Given the description of an element on the screen output the (x, y) to click on. 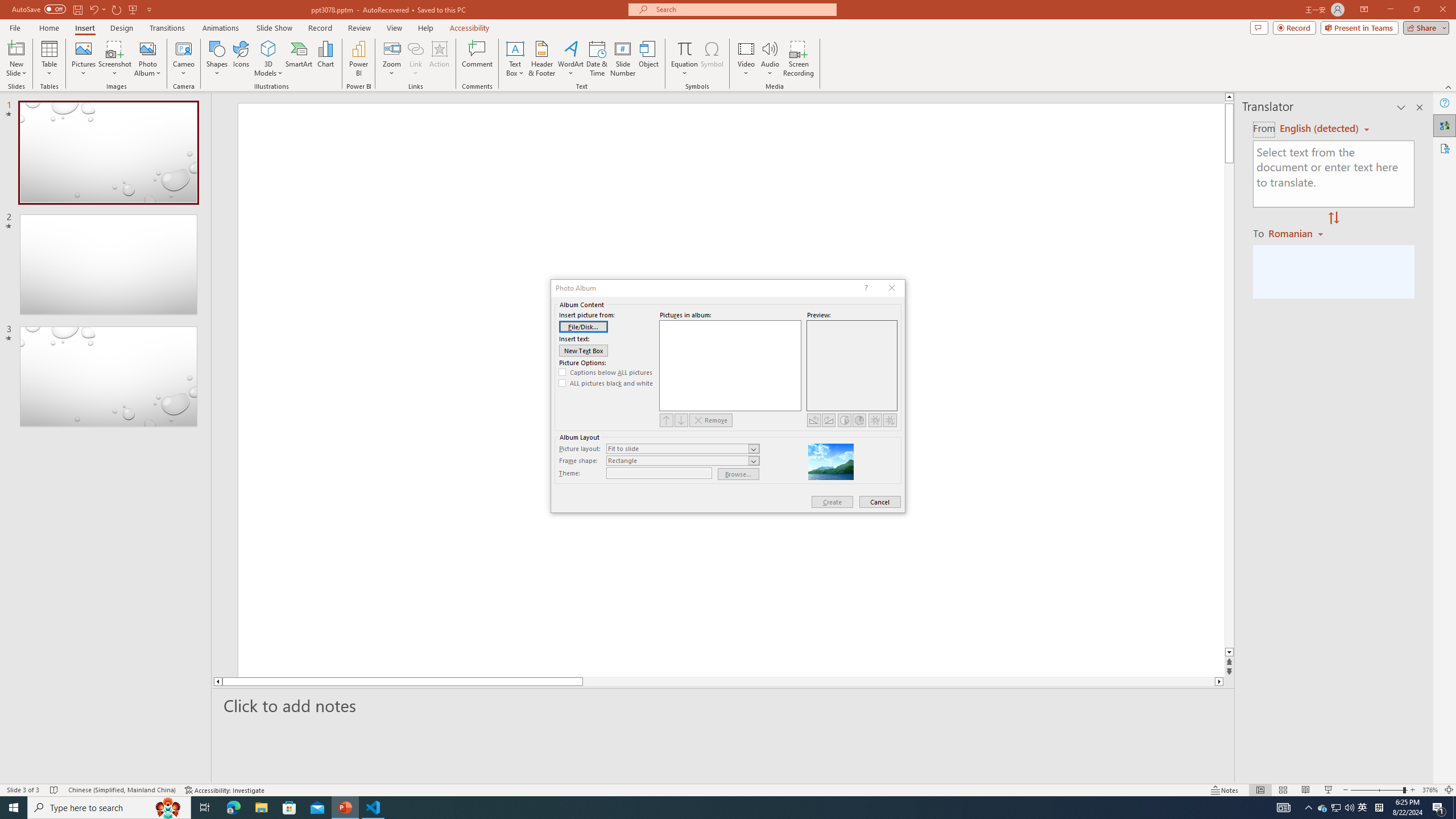
ALL pictures black and white (606, 383)
Link (415, 58)
Context help (865, 288)
